Given the description of an element on the screen output the (x, y) to click on. 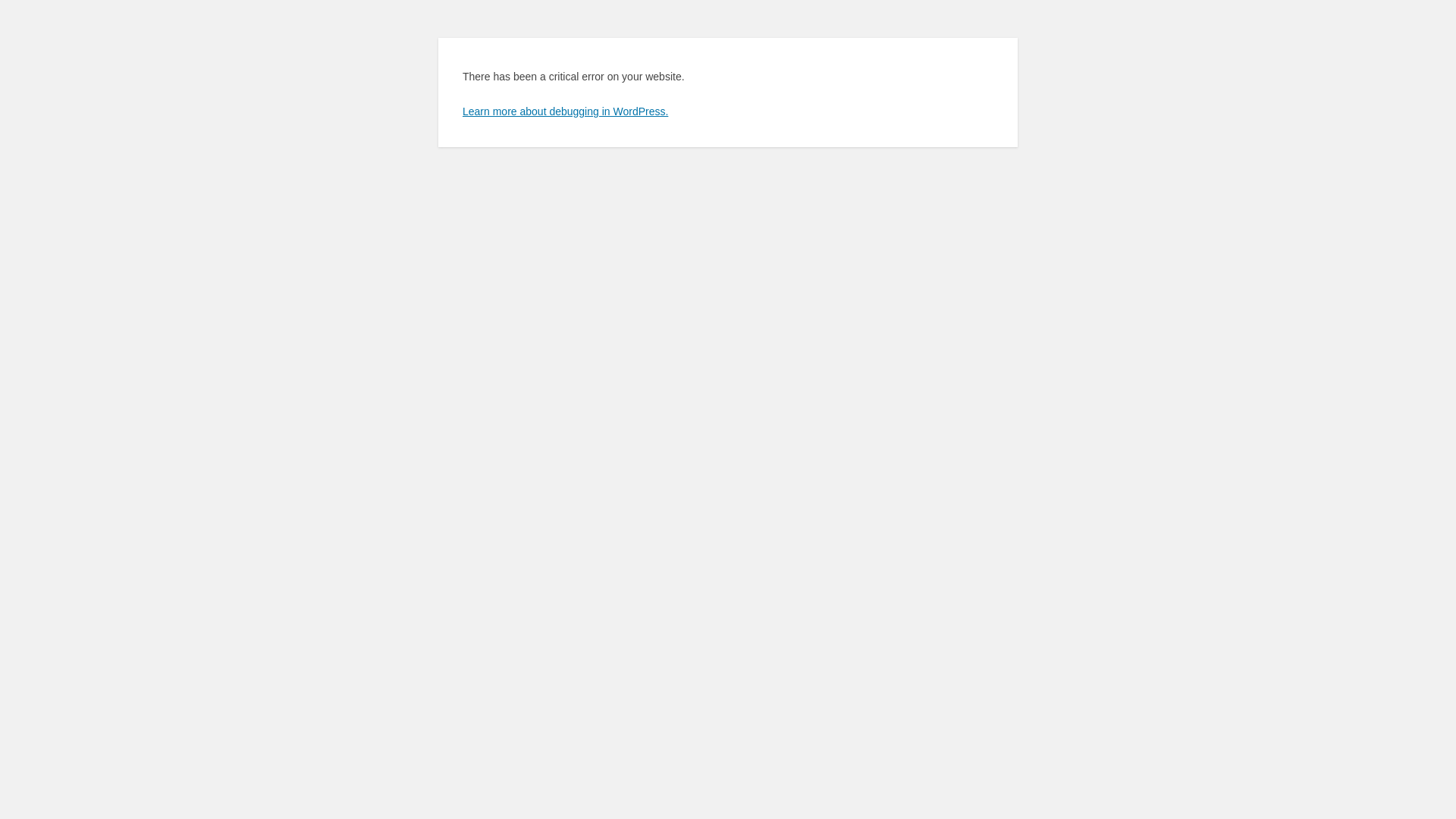
Learn more about debugging in WordPress. Element type: text (565, 111)
